Given the description of an element on the screen output the (x, y) to click on. 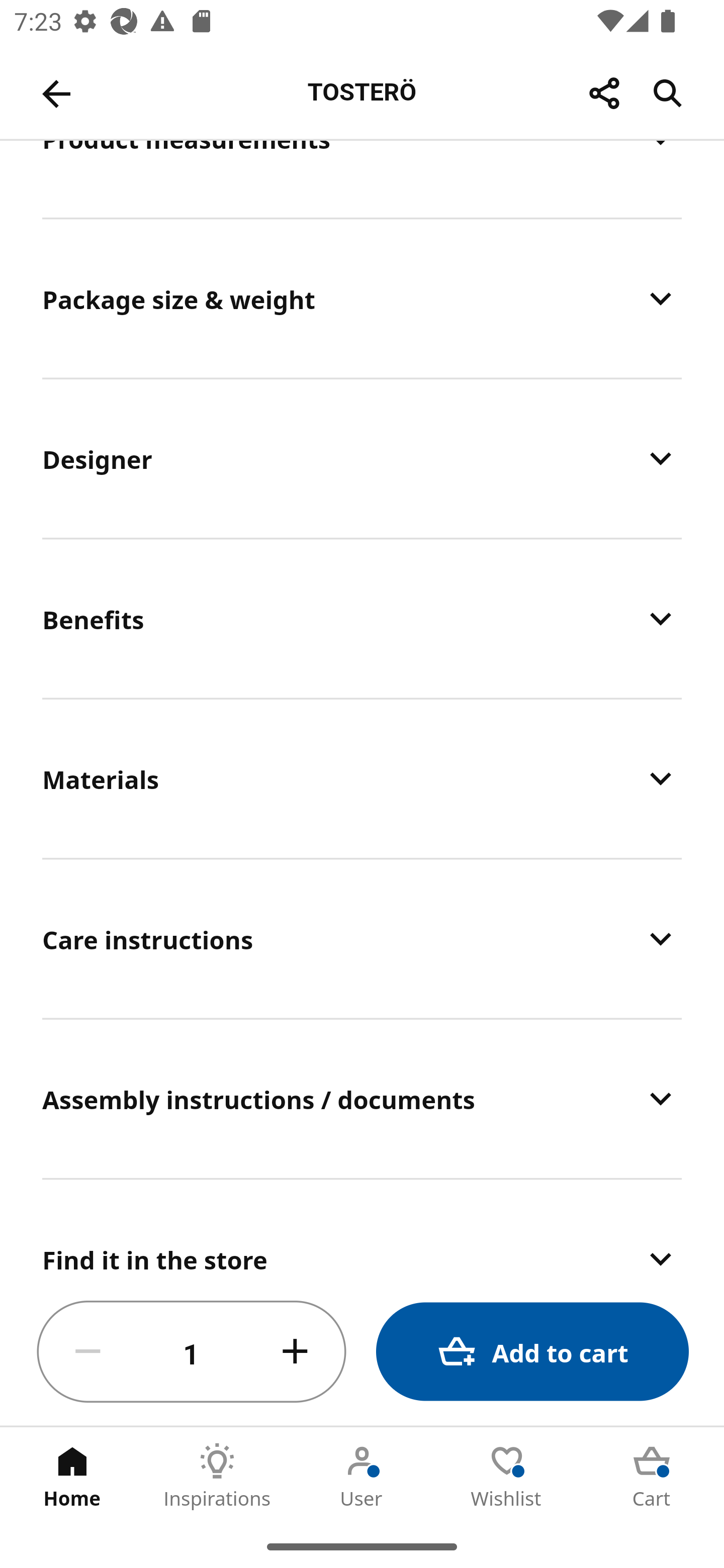
Package size & weight (361, 298)
Designer (361, 458)
Benefits (361, 618)
Materials (361, 778)
Care instructions (361, 938)
Assembly instructions / documents (361, 1098)
Find it in the store (361, 1229)
Add to cart (531, 1352)
1 (191, 1352)
Home
Tab 1 of 5 (72, 1476)
Inspirations
Tab 2 of 5 (216, 1476)
User
Tab 3 of 5 (361, 1476)
Wishlist
Tab 4 of 5 (506, 1476)
Cart
Tab 5 of 5 (651, 1476)
